Given the description of an element on the screen output the (x, y) to click on. 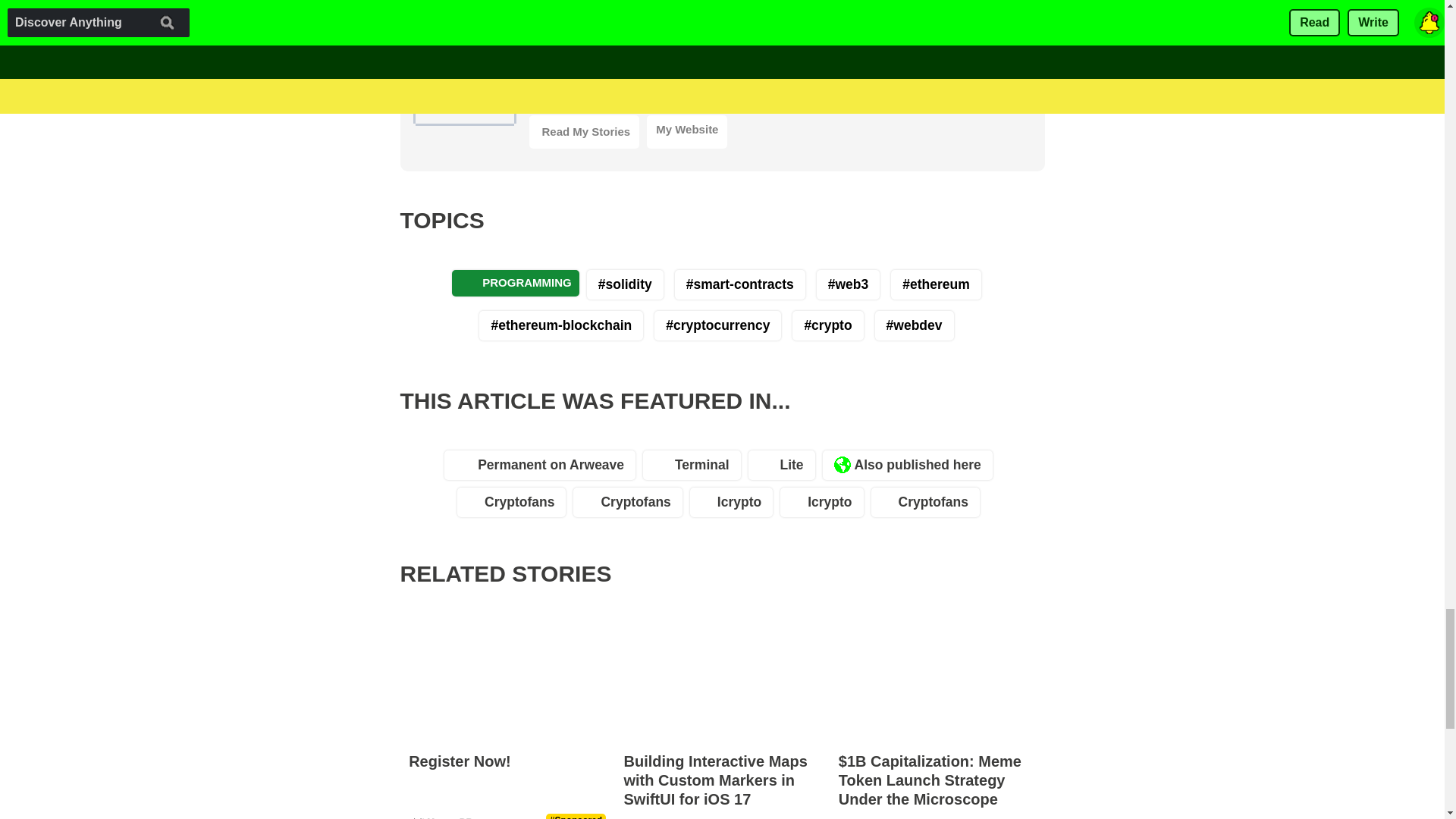
Subscribe (725, 58)
PROGRAMMING (515, 283)
 Terminal (695, 468)
Read My Stories (584, 131)
Permanent on Arweave (543, 468)
My Website (686, 131)
